Given the description of an element on the screen output the (x, y) to click on. 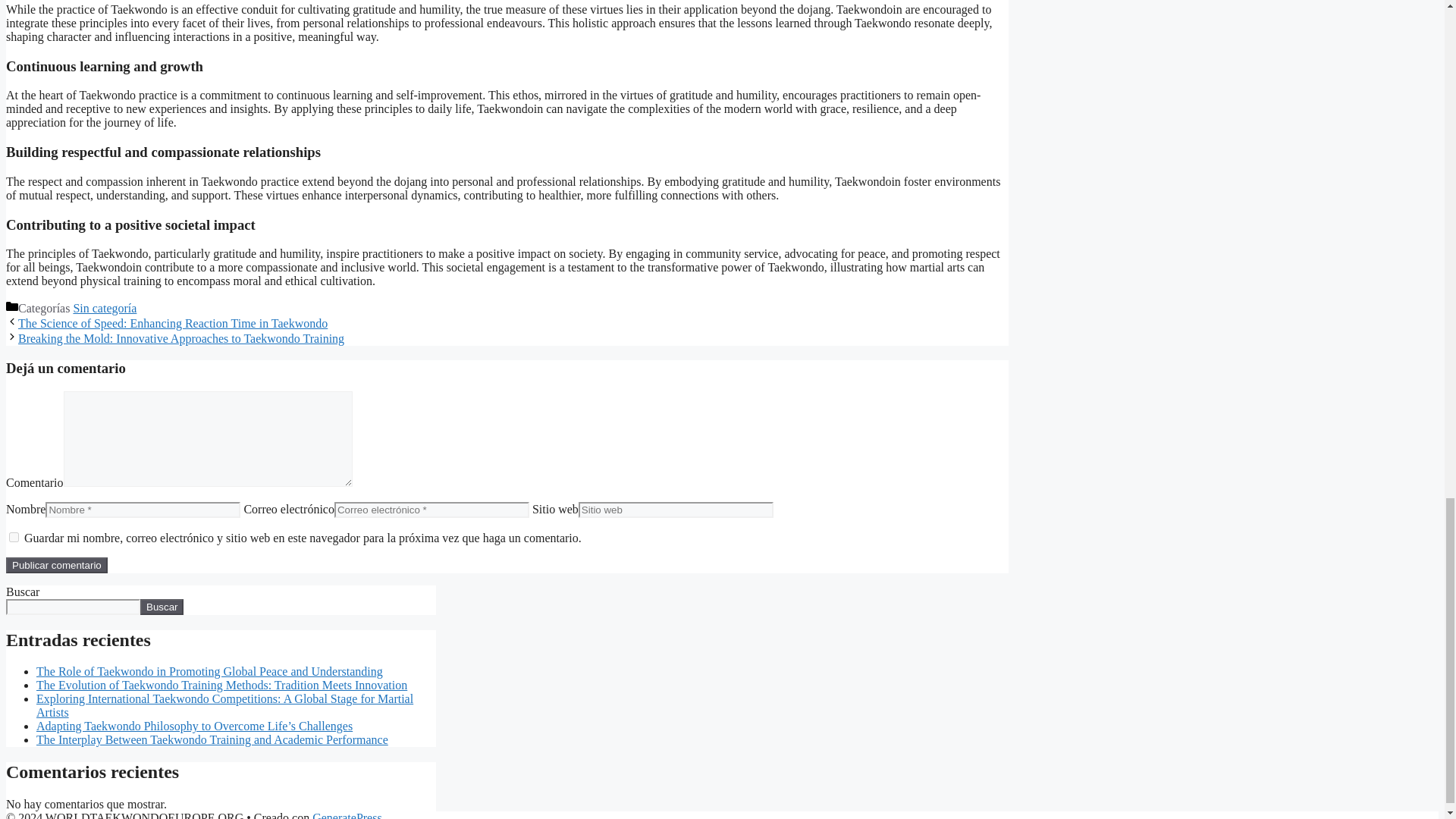
Publicar comentario (56, 565)
The Science of Speed: Enhancing Reaction Time in Taekwondo (172, 323)
Publicar comentario (56, 565)
Buscar (161, 606)
yes (13, 537)
